Given the description of an element on the screen output the (x, y) to click on. 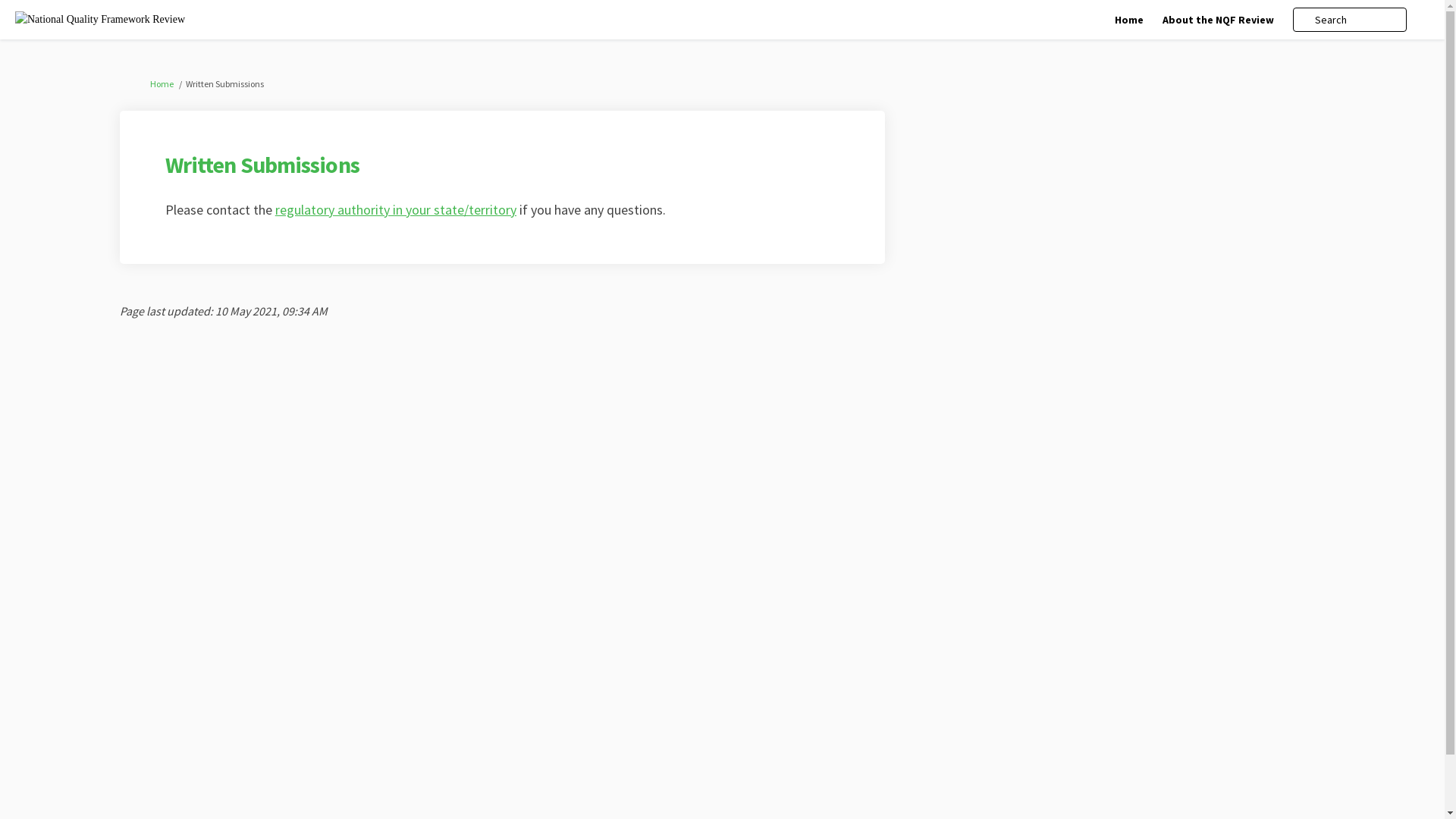
About the NQF Review Element type: text (1217, 19)
Home Element type: text (161, 83)
regulatory authority in your state/territory Element type: text (395, 209)
Home Element type: text (1128, 19)
